Given the description of an element on the screen output the (x, y) to click on. 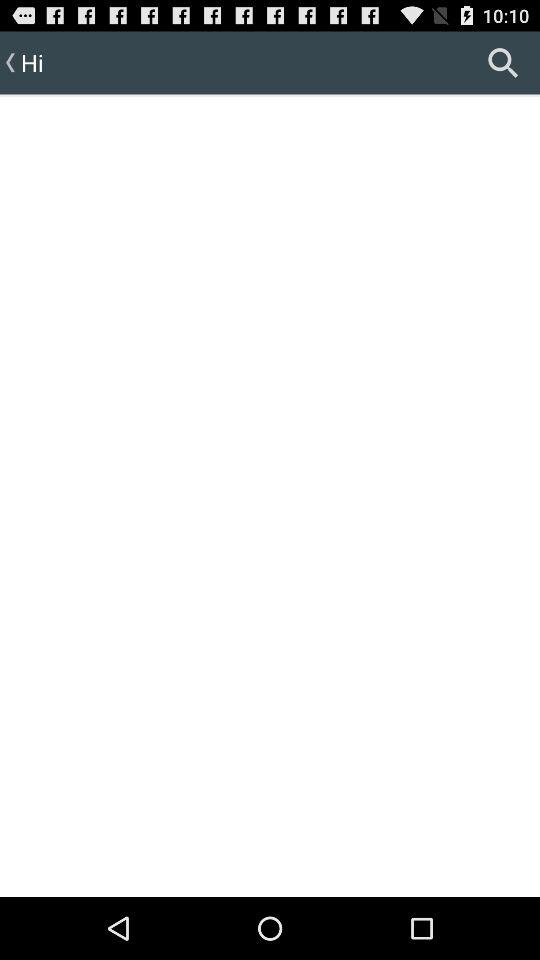
open the app next to hi app (503, 62)
